Given the description of an element on the screen output the (x, y) to click on. 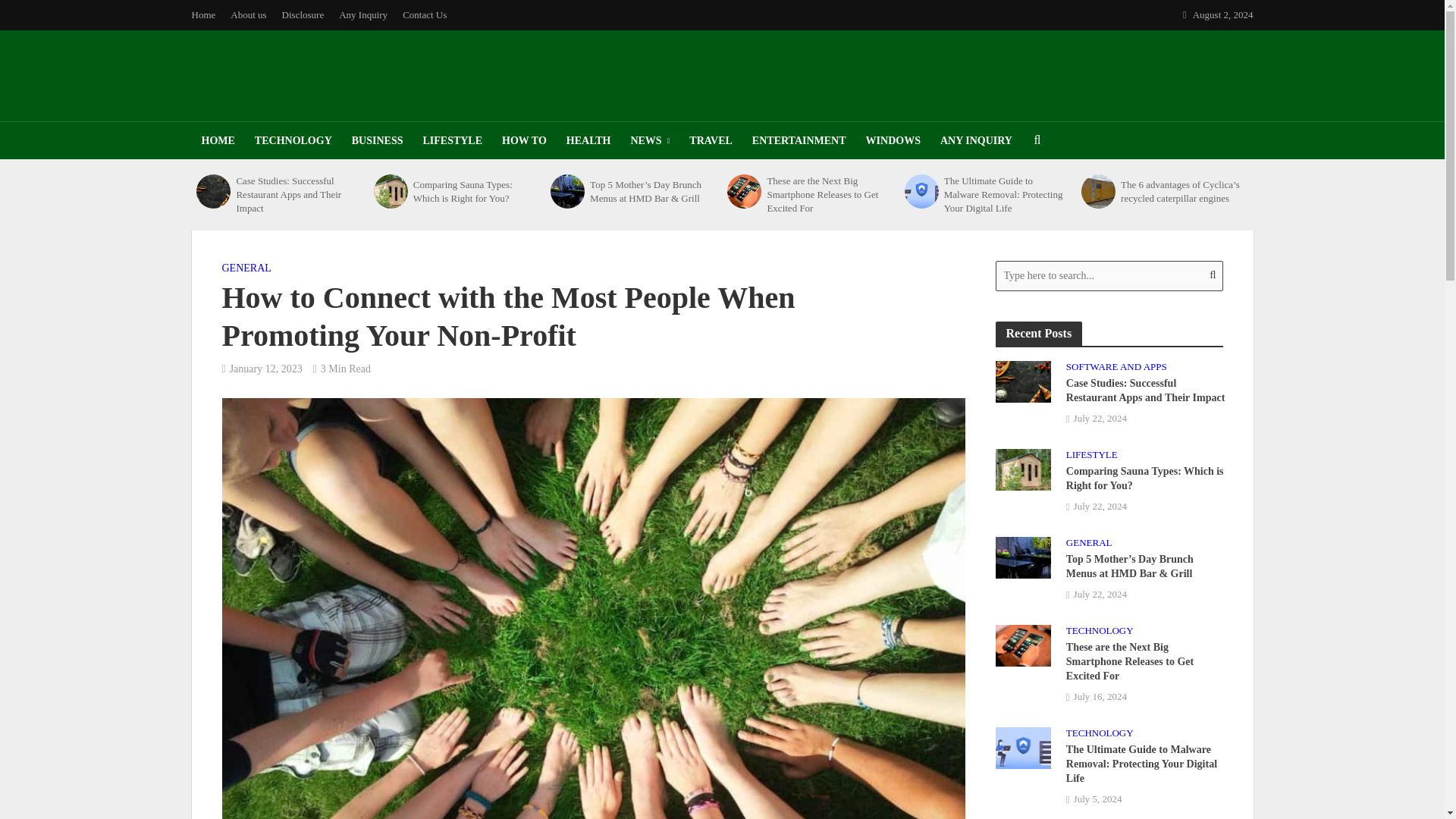
NEWS (649, 140)
Contact Us (424, 15)
Comparing Sauna Types: Which is Right for You? (390, 191)
Case Studies: Successful Restaurant Apps and Their Impact (295, 194)
HOME (217, 140)
About us (247, 15)
Home (206, 15)
Case Studies: Successful Restaurant Apps and Their Impact (1021, 380)
ANY INQUIRY (976, 140)
TRAVEL (710, 140)
ENTERTAINMENT (799, 140)
